Given the description of an element on the screen output the (x, y) to click on. 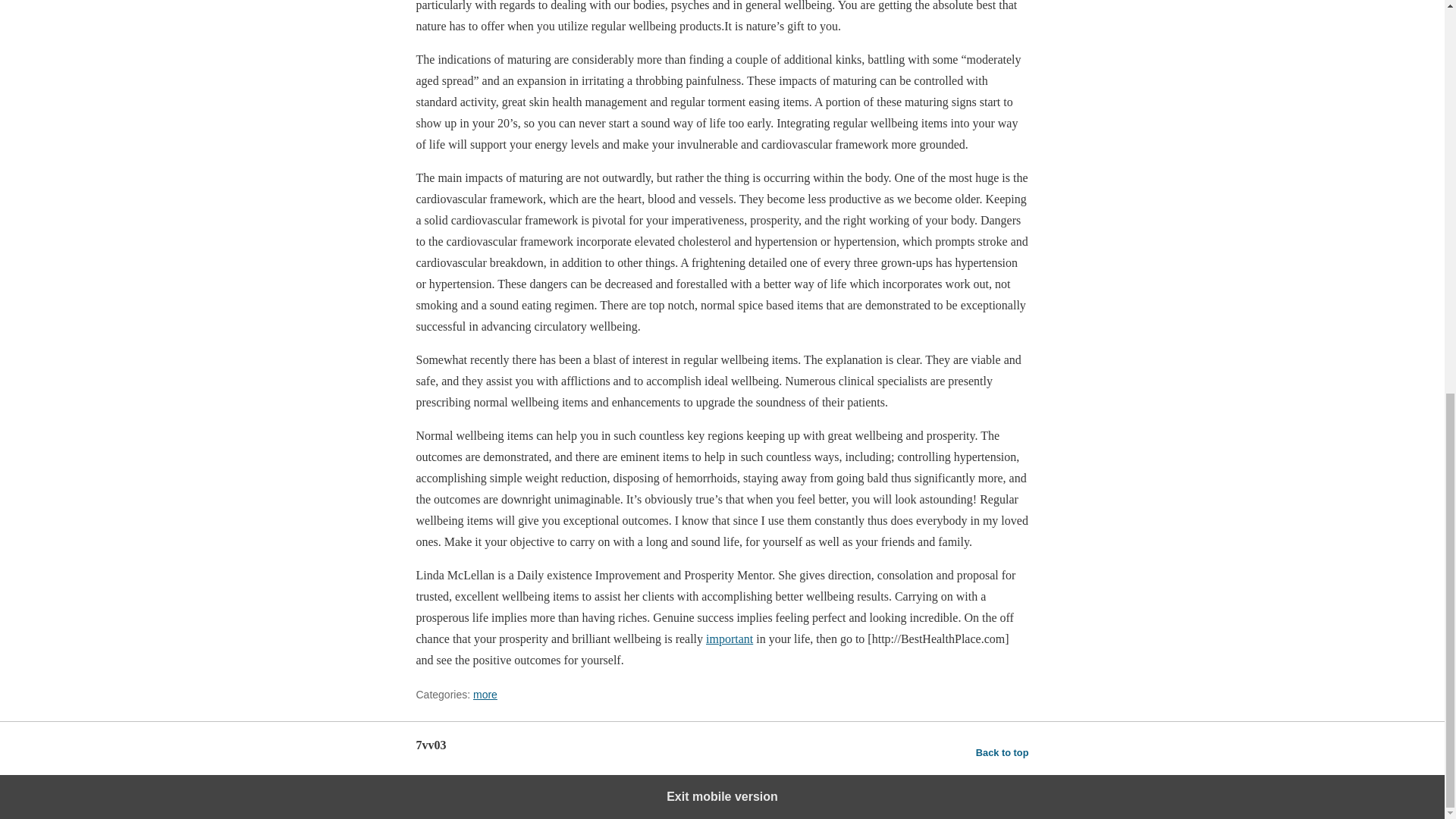
important (729, 638)
more (485, 694)
Back to top (1002, 752)
